Given the description of an element on the screen output the (x, y) to click on. 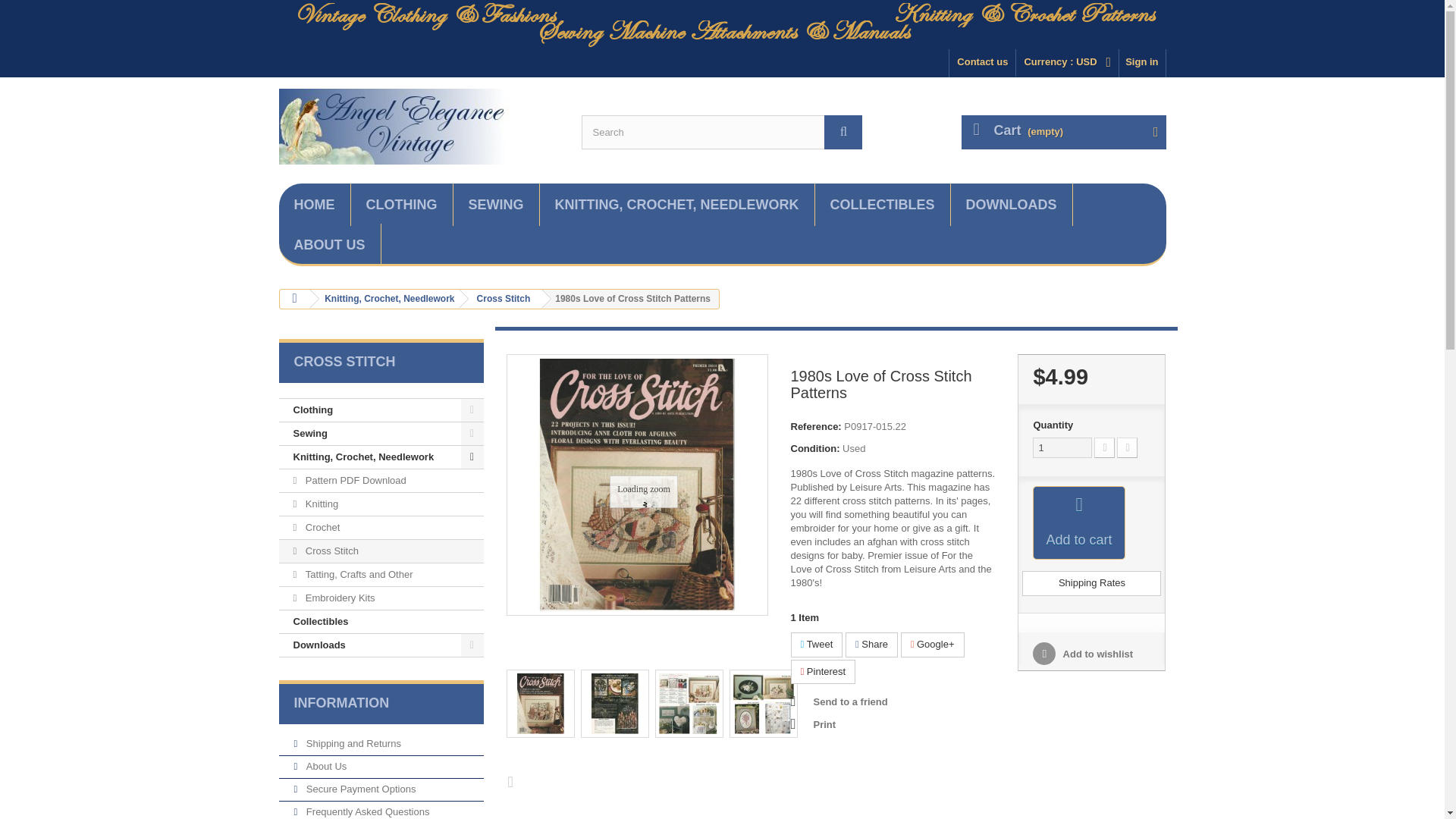
1 (1062, 447)
Log in to your customer account (1141, 62)
Contact us (981, 62)
Clothing (400, 204)
HOME (314, 204)
SEWING (495, 204)
View my shopping cart (1063, 132)
Contact us (981, 62)
CLOTHING (400, 204)
Sign in (1141, 62)
